Given the description of an element on the screen output the (x, y) to click on. 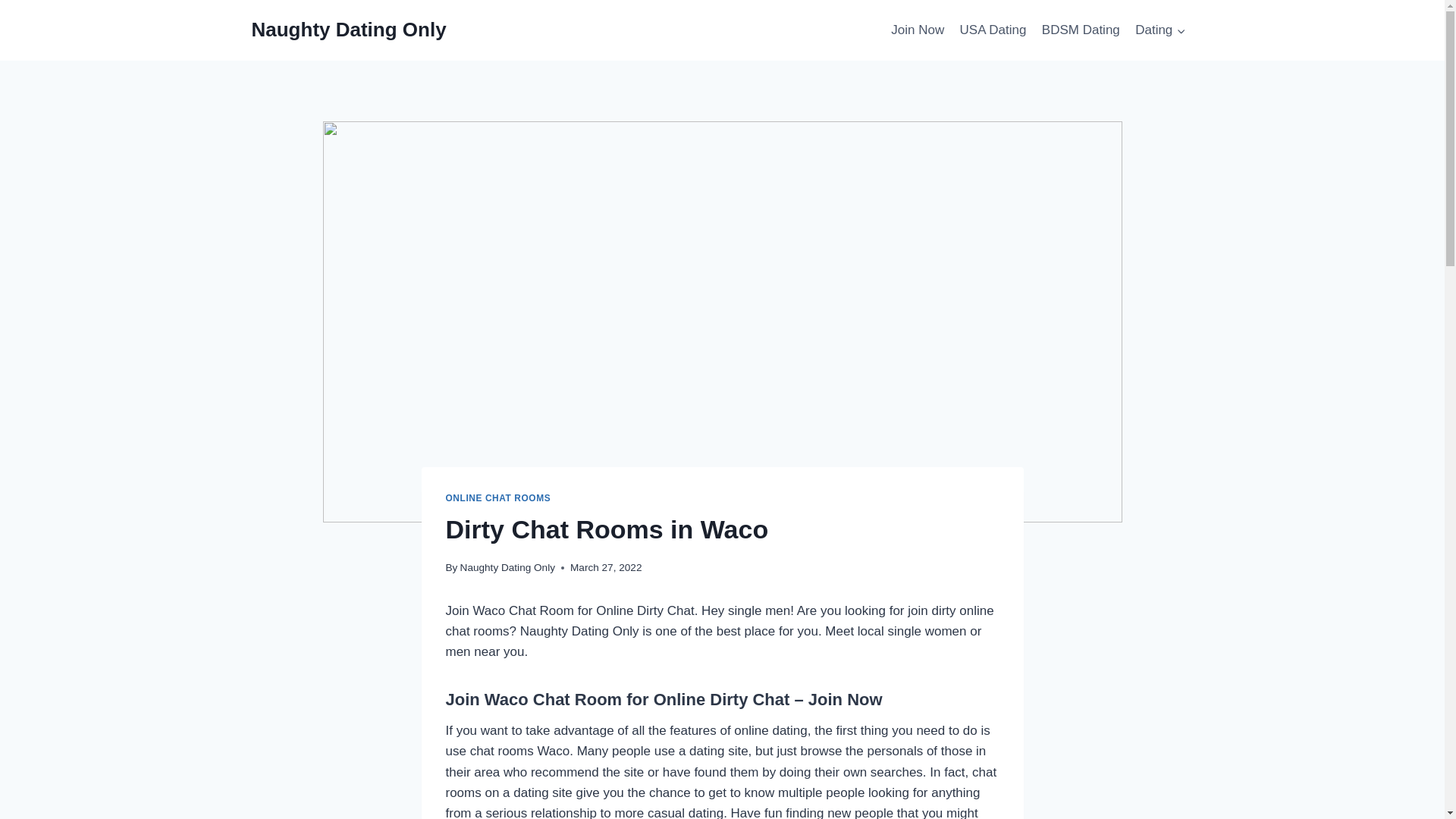
Dating (1159, 30)
USA Dating (992, 30)
Join Now (917, 30)
Naughty Dating Only (507, 567)
Naughty Dating Only (348, 29)
ONLINE CHAT ROOMS (498, 498)
BDSM Dating (1079, 30)
Join Now (845, 699)
